Given the description of an element on the screen output the (x, y) to click on. 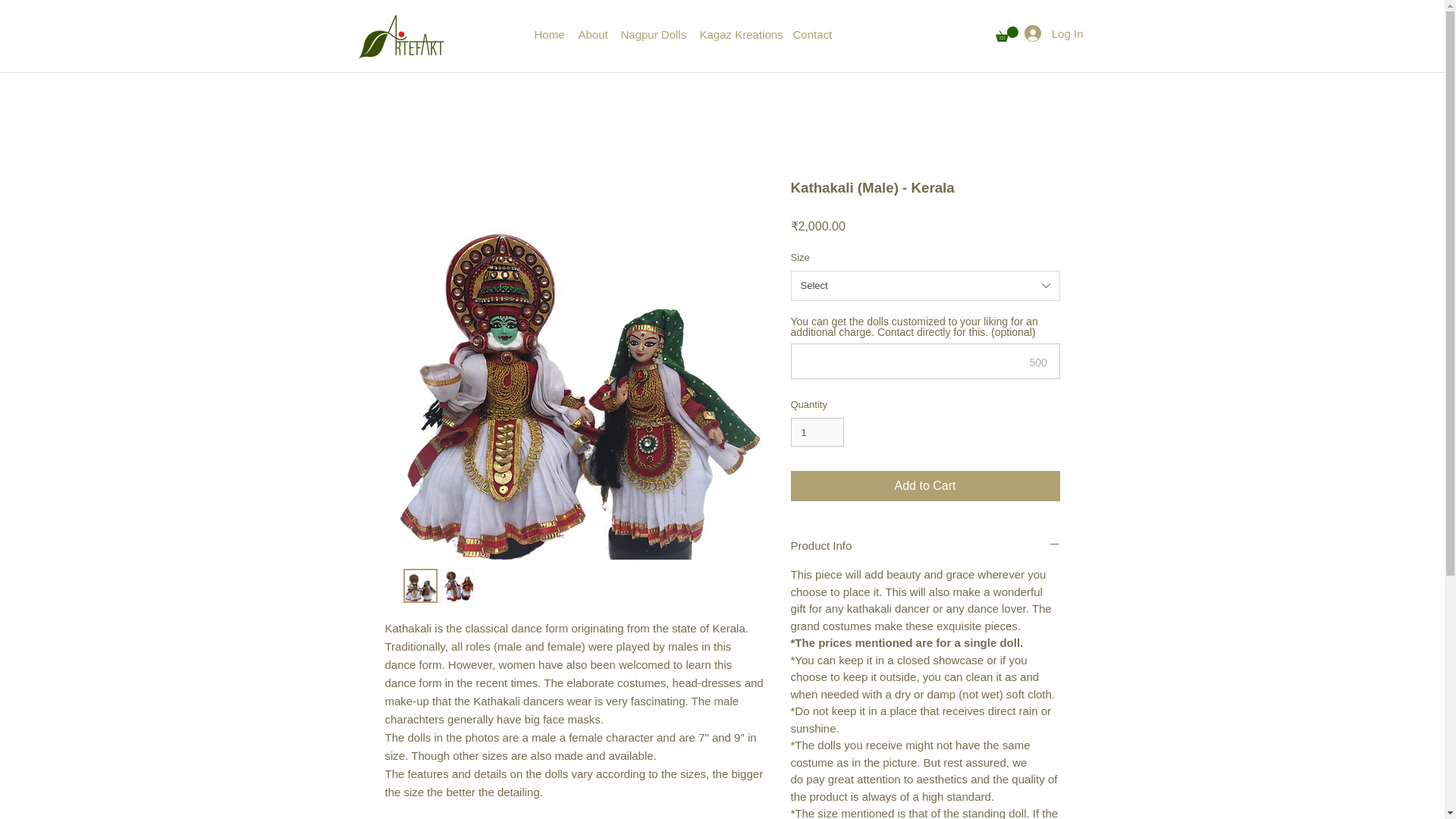
Contact (817, 33)
Kagaz Kreations (743, 33)
Home (554, 33)
Add to Cart (924, 485)
1 (817, 431)
Product Info (924, 545)
Nagpur Dolls (657, 33)
About (597, 33)
Select (924, 286)
Log In (1053, 32)
